Given the description of an element on the screen output the (x, y) to click on. 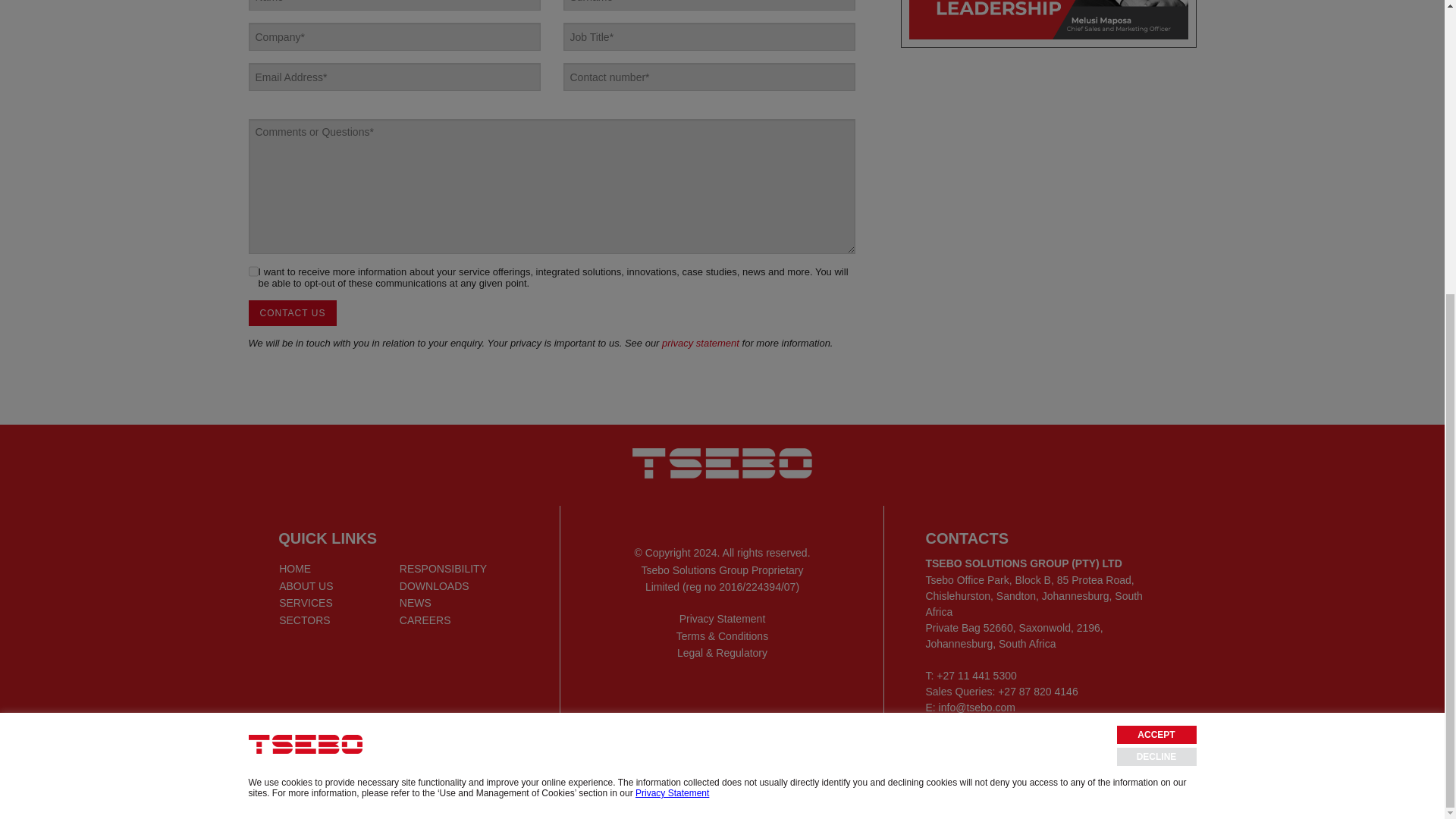
false (253, 271)
CONTACT US (292, 312)
